Given the description of an element on the screen output the (x, y) to click on. 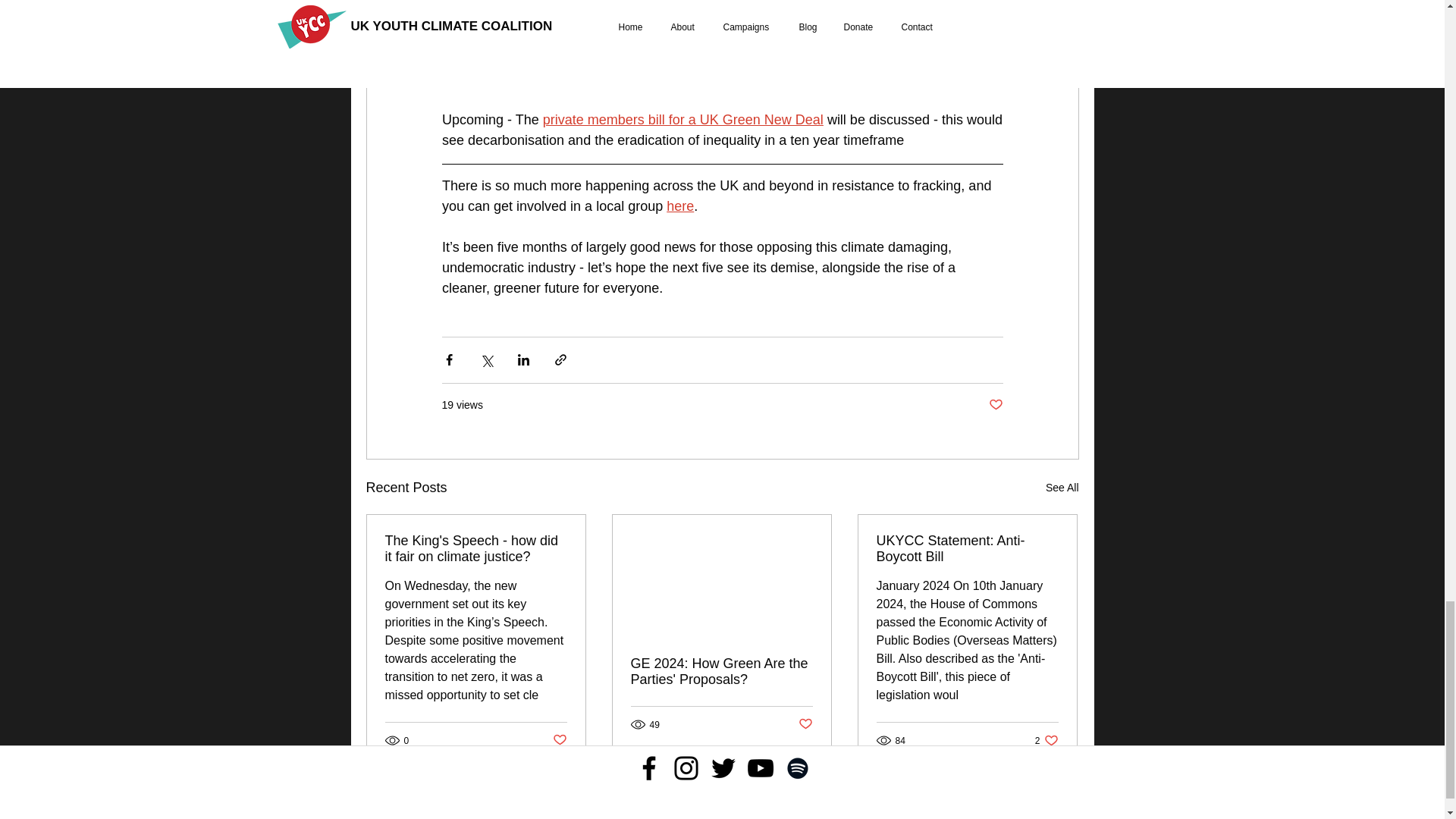
here (680, 206)
here (520, 16)
Power Beyond Borders Mass Action Camp (676, 57)
private members bill for a UK Green New Deal (681, 119)
